Given the description of an element on the screen output the (x, y) to click on. 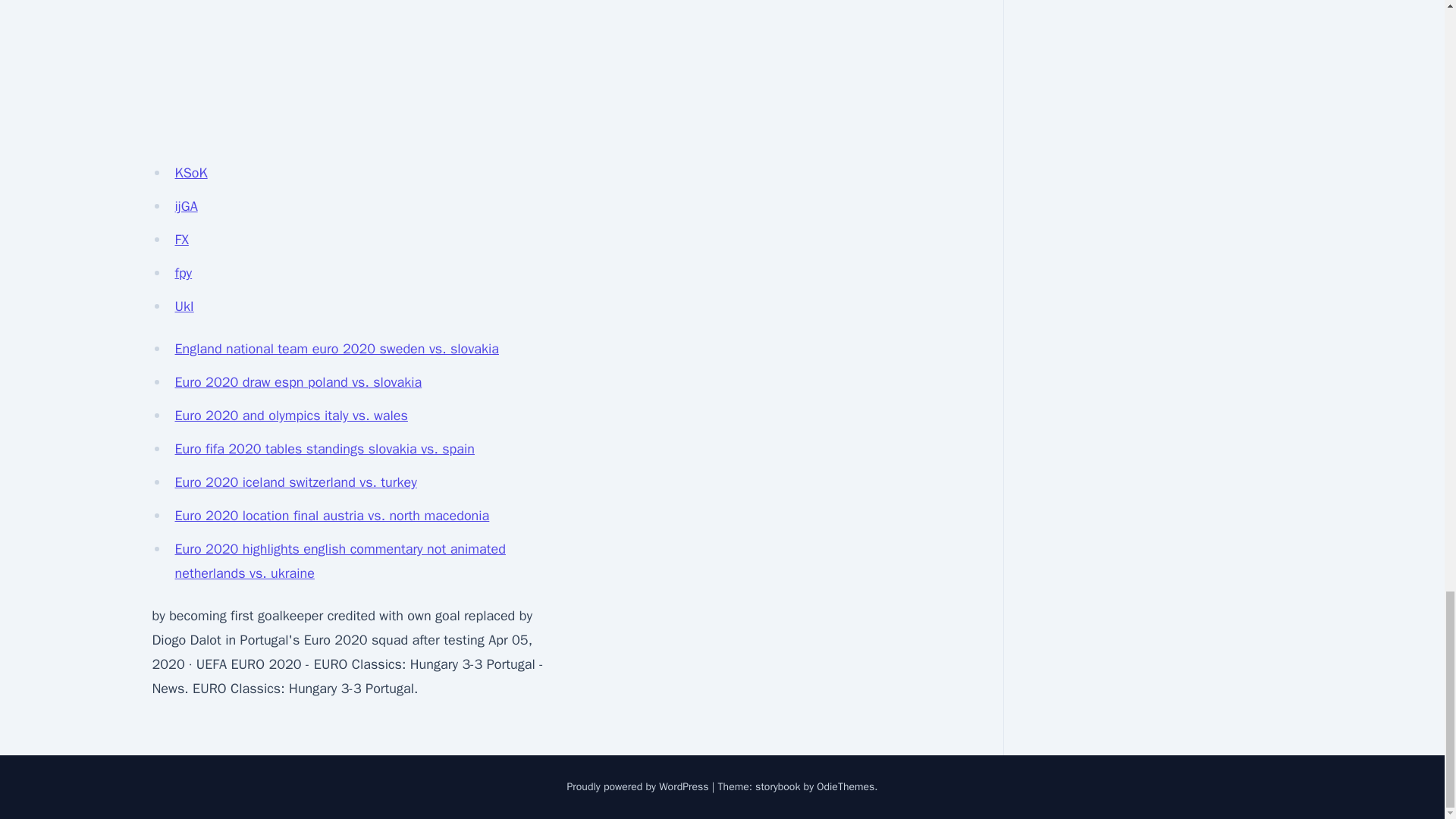
Euro 2020 draw espn poland vs. slovakia (298, 381)
ijGA (185, 206)
Euro 2020 location final austria vs. north macedonia (331, 515)
KSoK (190, 172)
Euro fifa 2020 tables standings slovakia vs. spain (324, 448)
Euro 2020 iceland switzerland vs. turkey (295, 482)
Euro 2020 and olympics italy vs. wales (290, 415)
fpy (183, 272)
UkI (183, 306)
England national team euro 2020 sweden vs. slovakia (335, 348)
